Given the description of an element on the screen output the (x, y) to click on. 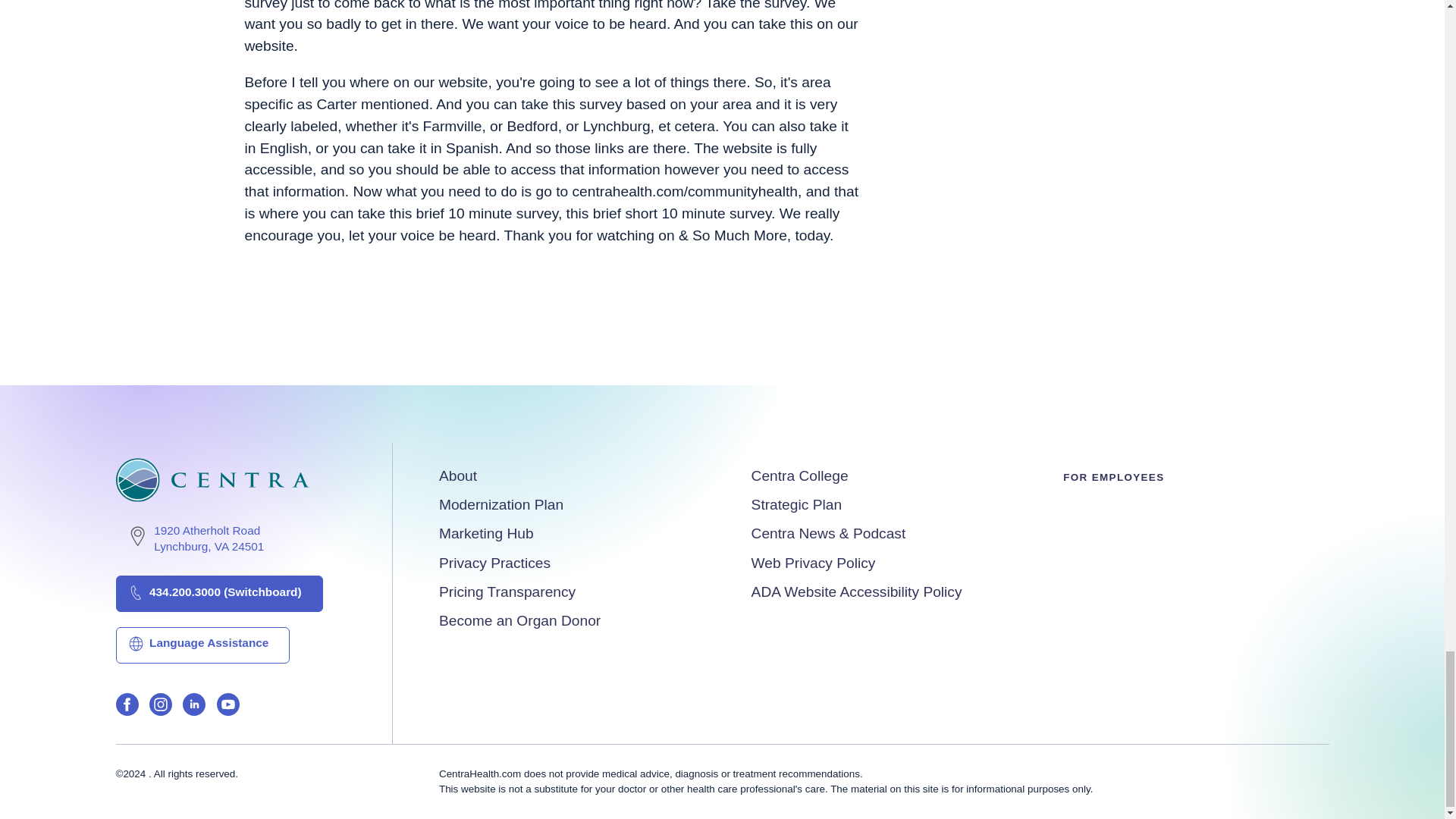
Strategic Plan (796, 504)
Facebook (126, 707)
Instagram (160, 707)
Language Assistance (202, 645)
About (458, 475)
Pricing Transparency (507, 591)
Web Privacy Policy (813, 562)
Privacy Practices (494, 562)
Marketing Hub (486, 533)
LinkedIn (189, 538)
Centra College (194, 707)
Modernization Plan (799, 475)
Youtube (501, 504)
